Given the description of an element on the screen output the (x, y) to click on. 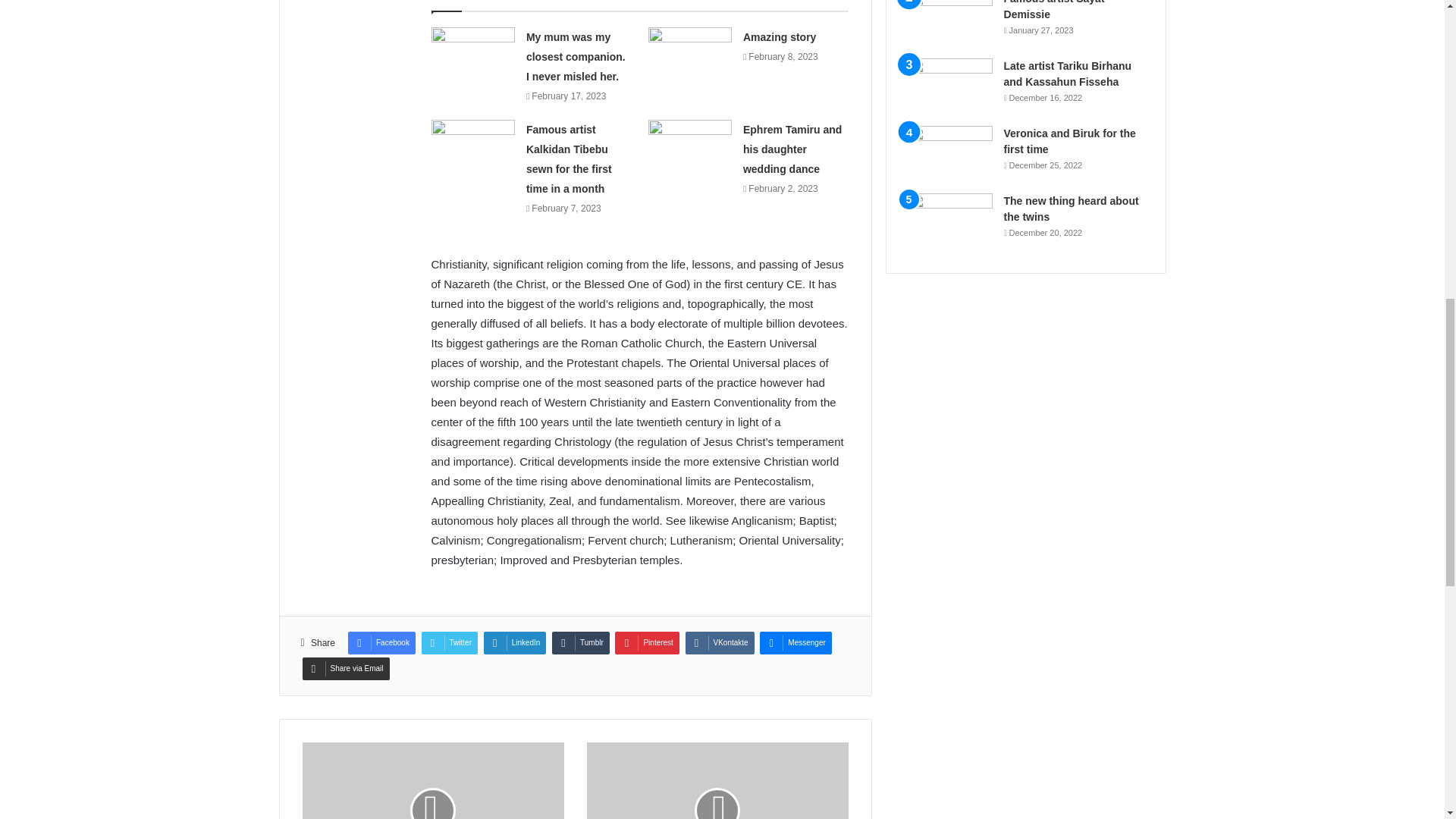
LinkedIn (515, 642)
Amazing story (778, 37)
My mum was my closest companion. I never misled her. (575, 56)
Ephrem Tamiru and his daughter wedding dance (791, 149)
Twitter (449, 642)
Facebook (380, 642)
Tumblr (580, 642)
Facebook (380, 642)
